Given the description of an element on the screen output the (x, y) to click on. 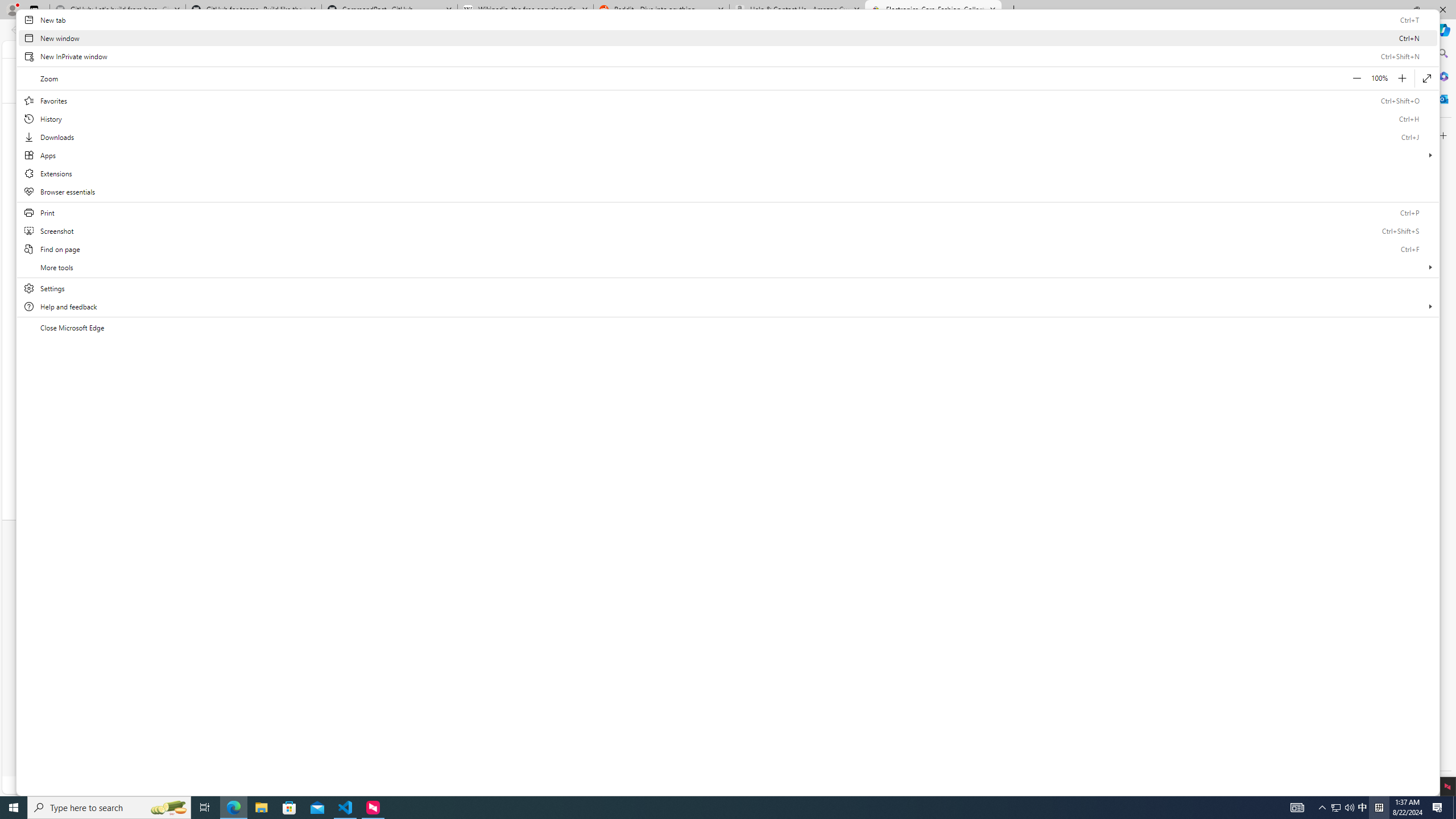
Advertise with us (823, 641)
Expand Cart (1056, 49)
Trading cards (818, 433)
Zoom out (Ctrl+Minus key) (1356, 78)
Developers (523, 638)
Sneakers (510, 433)
More tools (727, 266)
Sell (896, 48)
Help & Contact (989, 559)
FashionExpand: Fashion (579, 112)
eBay Home (394, 79)
Close Microsoft Edge (727, 327)
Community (984, 611)
United States (1015, 705)
